Given the description of an element on the screen output the (x, y) to click on. 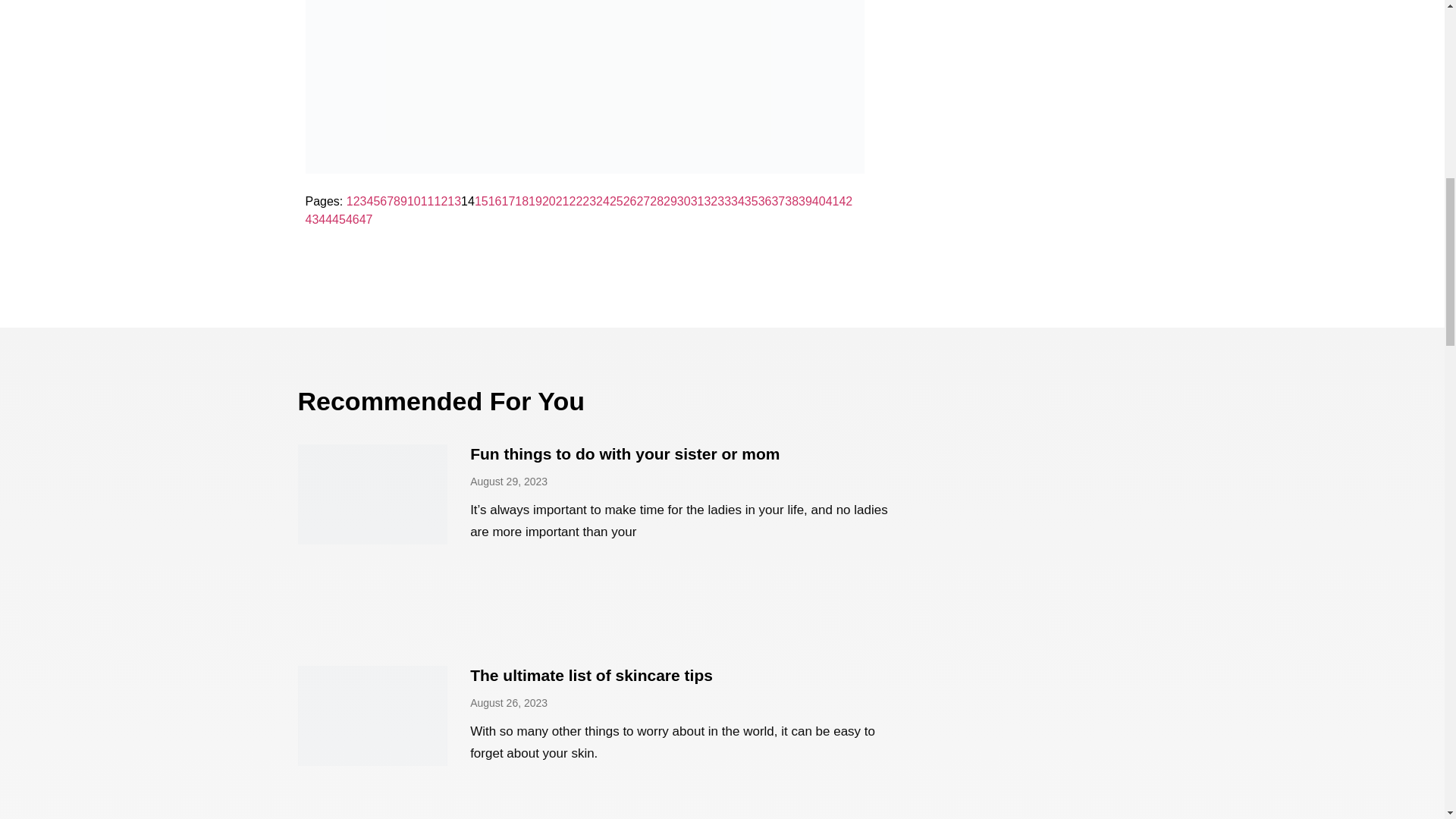
23 (588, 201)
15 (480, 201)
24 (602, 201)
18 (521, 201)
13 (453, 201)
22 (575, 201)
11 (426, 201)
27 (642, 201)
10 (413, 201)
17 (508, 201)
